Given the description of an element on the screen output the (x, y) to click on. 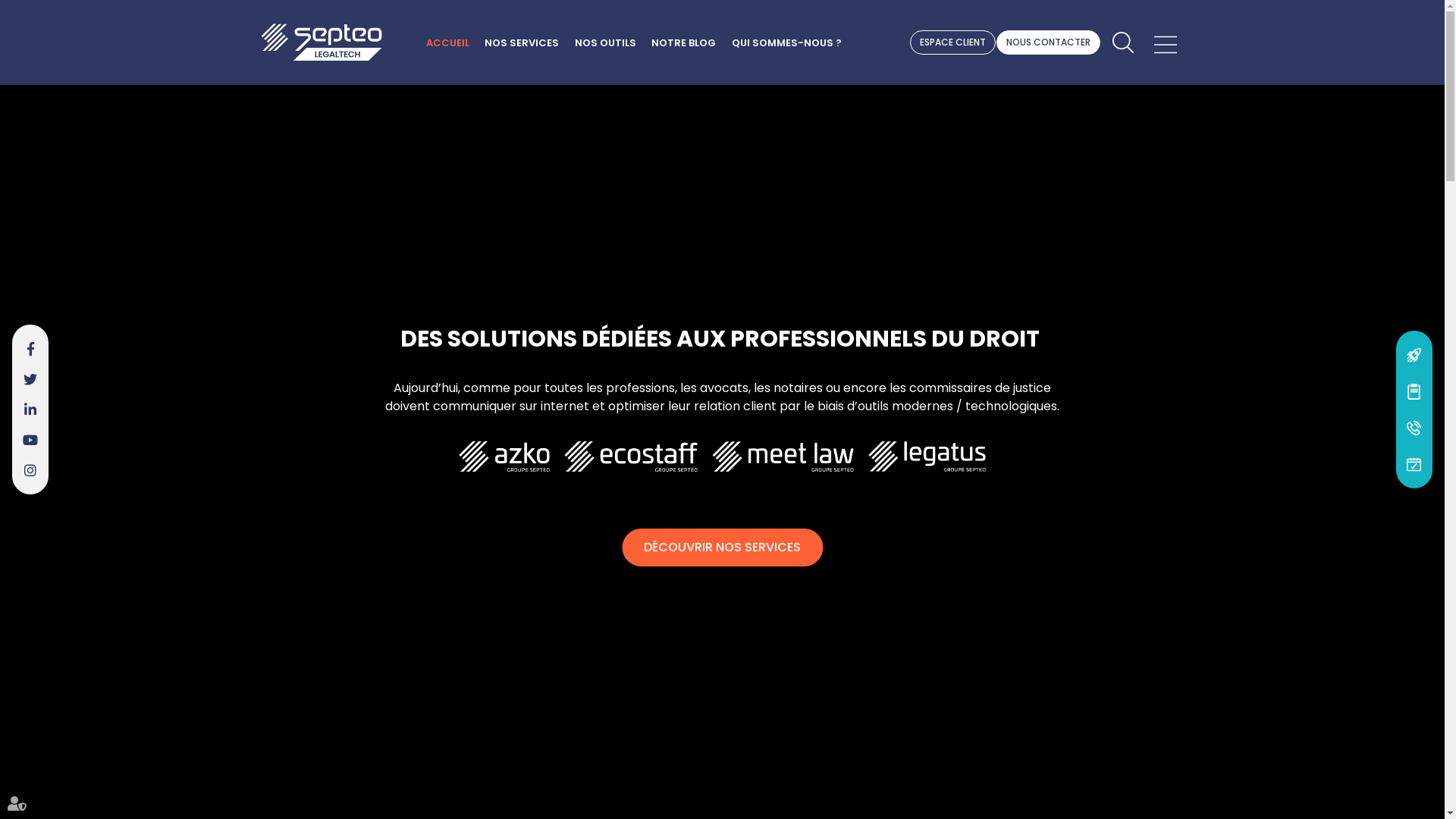
QUI SOMMES-NOUS ? Element type: text (785, 42)
NOS SERVICES Element type: text (521, 42)
Twitter Element type: text (30, 379)
azko-logo-horiz-blanc.png Element type: hover (503, 456)
Facebook Element type: text (30, 348)
fichier-1.png Element type: hover (926, 456)
RECHERCHER Element type: text (1122, 42)
Linkedin Element type: text (30, 409)
SEPTEO LEGALTECH Element type: hover (321, 42)
meet-law-logo-horiz-reserve72dpi.png Element type: hover (782, 456)
ESPACE CLIENT Element type: text (952, 42)
ecostaff-logo-horiz-blanc.png Element type: hover (630, 456)
NOTRE BLOG Element type: text (683, 42)
Instagram Element type: text (30, 470)
Youtube Element type: text (30, 439)
ACCUEIL Element type: text (447, 42)
NOS OUTILS Element type: text (605, 42)
NOUS CONTACTER Element type: text (1048, 42)
